Given the description of an element on the screen output the (x, y) to click on. 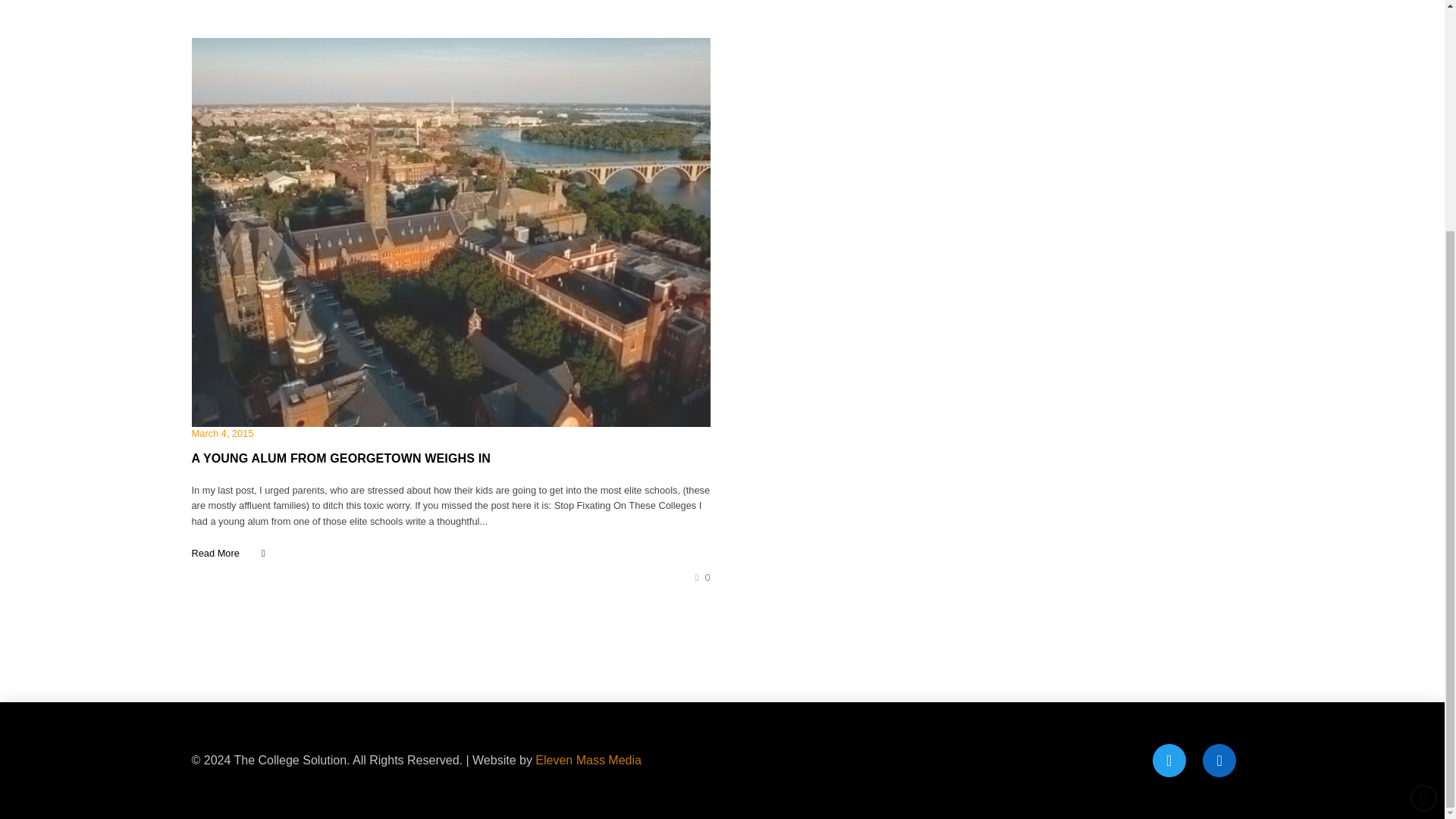
Eleven Mass Media (588, 759)
Back to Top (1423, 485)
